Given the description of an element on the screen output the (x, y) to click on. 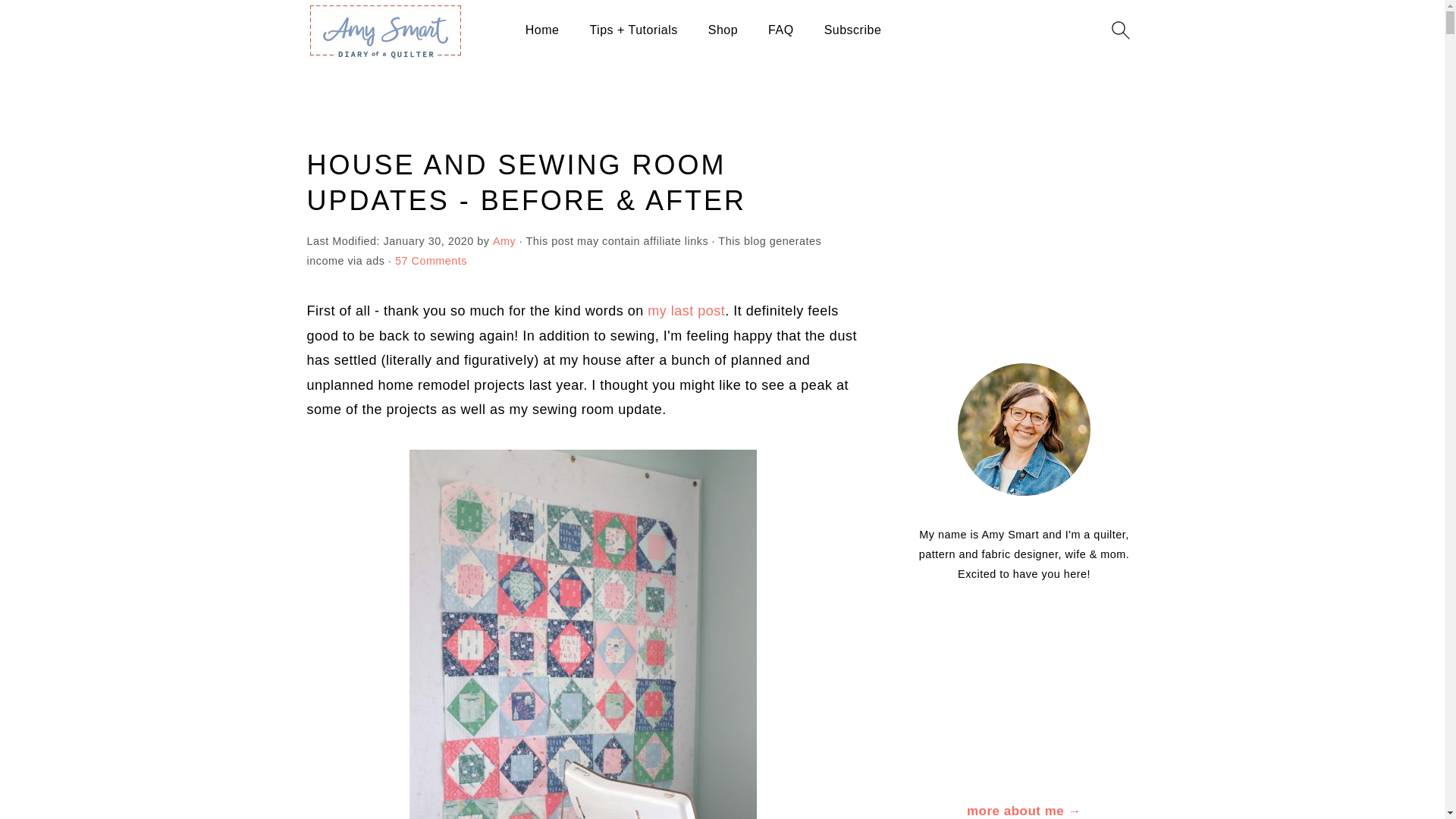
Amy (504, 241)
57 Comments (430, 260)
FAQ (780, 29)
Shop (722, 29)
my last post (686, 310)
search icon (1119, 30)
Home (542, 29)
Subscribe (853, 29)
